Given the description of an element on the screen output the (x, y) to click on. 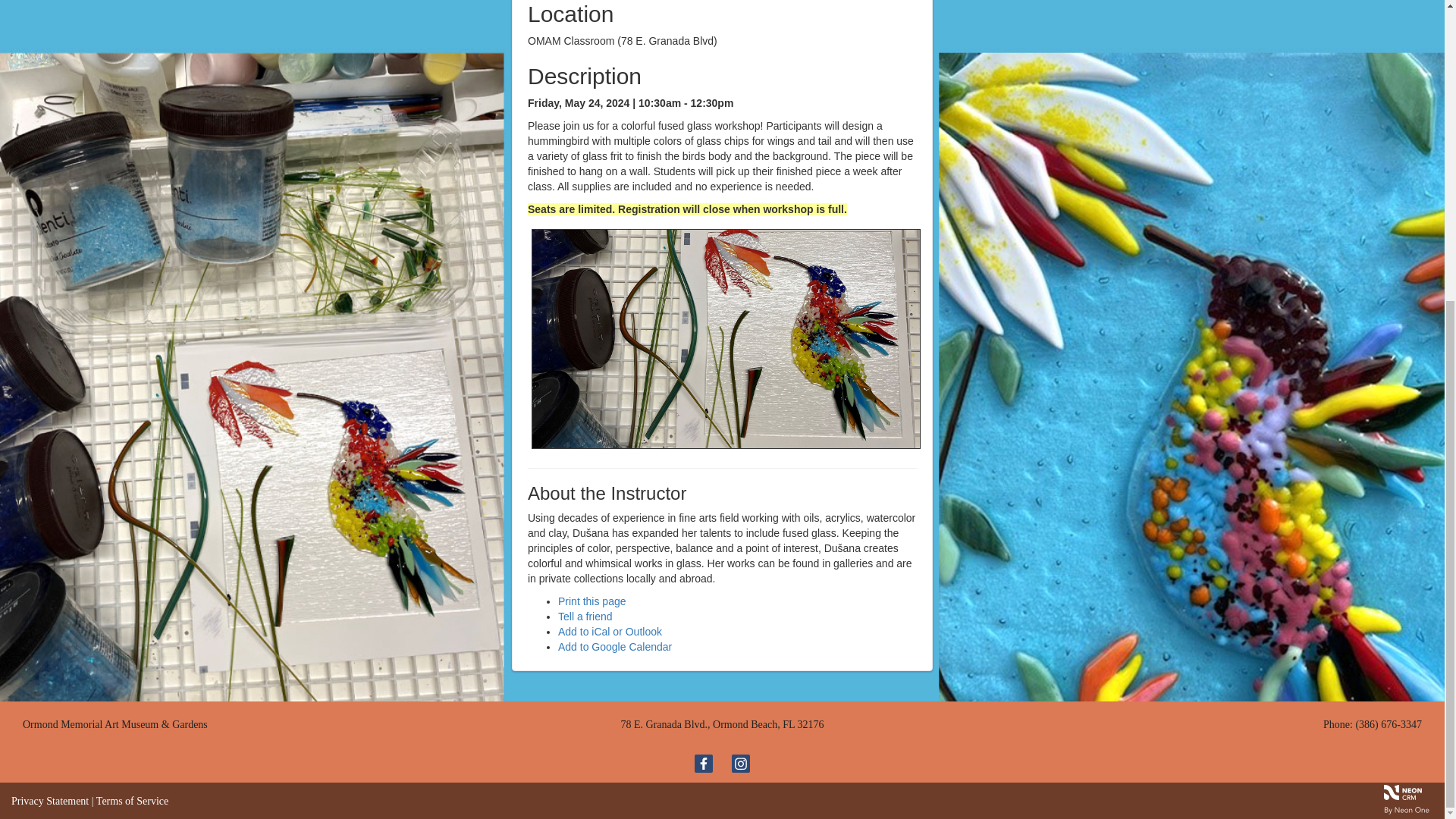
Privacy Statement (49, 800)
Tell a friend (584, 616)
Terms of Service (132, 800)
Add to Google Calendar (614, 646)
Print this page (591, 601)
Add to iCal or Outlook (609, 631)
